Given the description of an element on the screen output the (x, y) to click on. 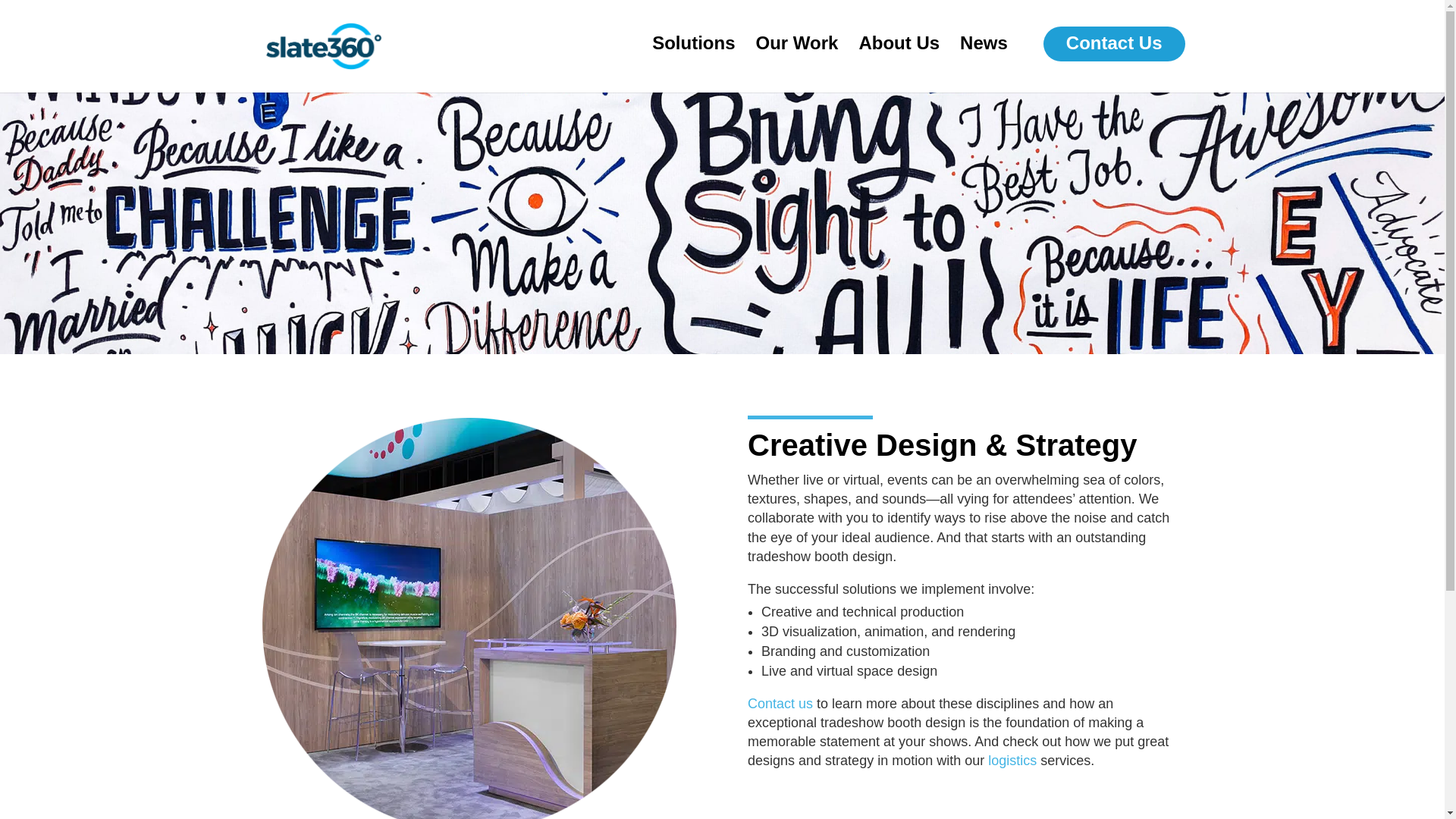
About Us (899, 55)
Contact Us (1114, 43)
Our Work (796, 55)
Solutions (693, 55)
logistics (1012, 760)
Contact us (780, 703)
News (983, 55)
